Given the description of an element on the screen output the (x, y) to click on. 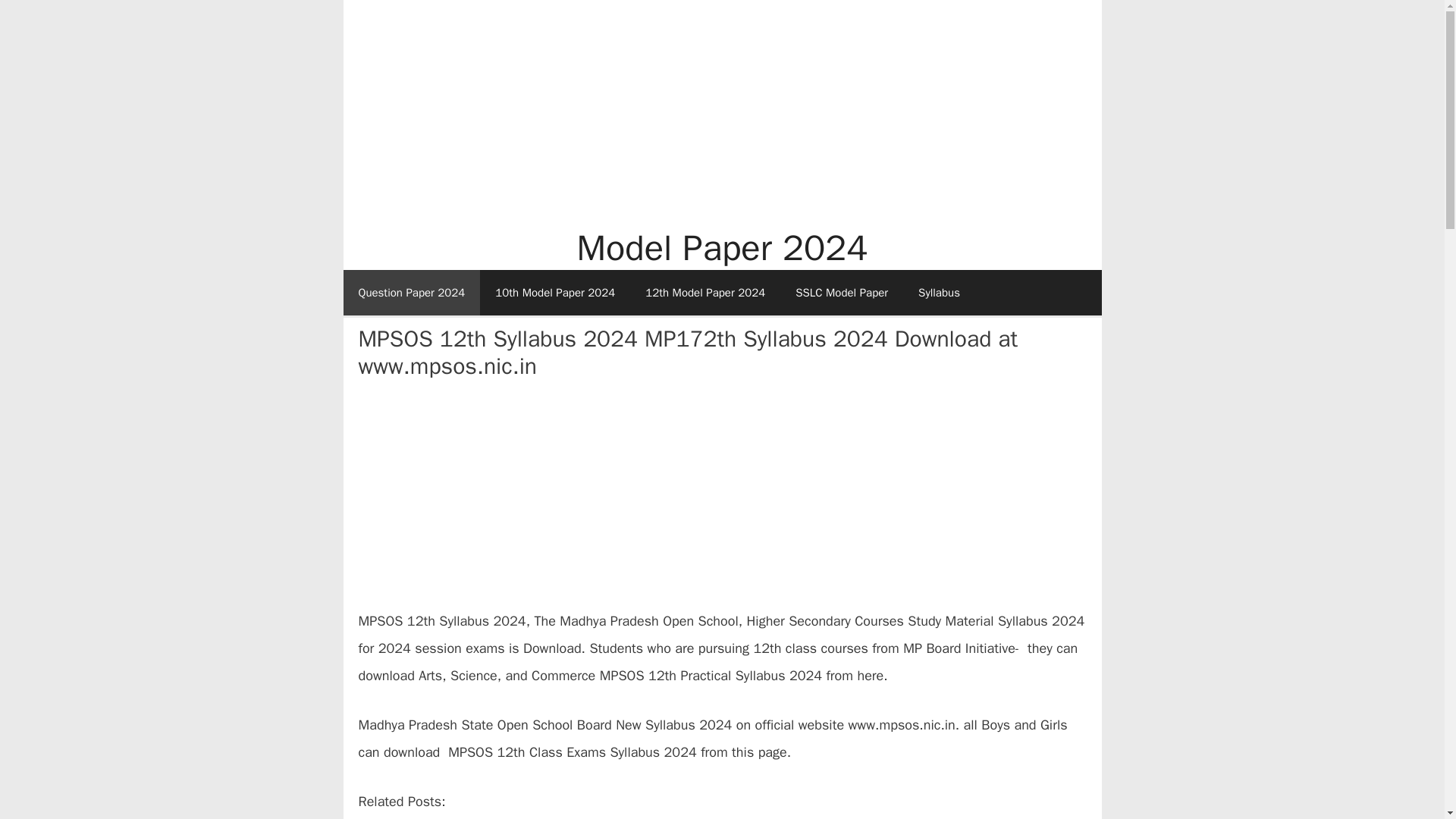
Model Paper 2024 (721, 248)
SSLC Model Paper (841, 292)
Syllabus (938, 292)
12th Model Paper 2024 (705, 292)
10th Model Paper 2024 (555, 292)
Question Paper 2024 (411, 292)
